Given the description of an element on the screen output the (x, y) to click on. 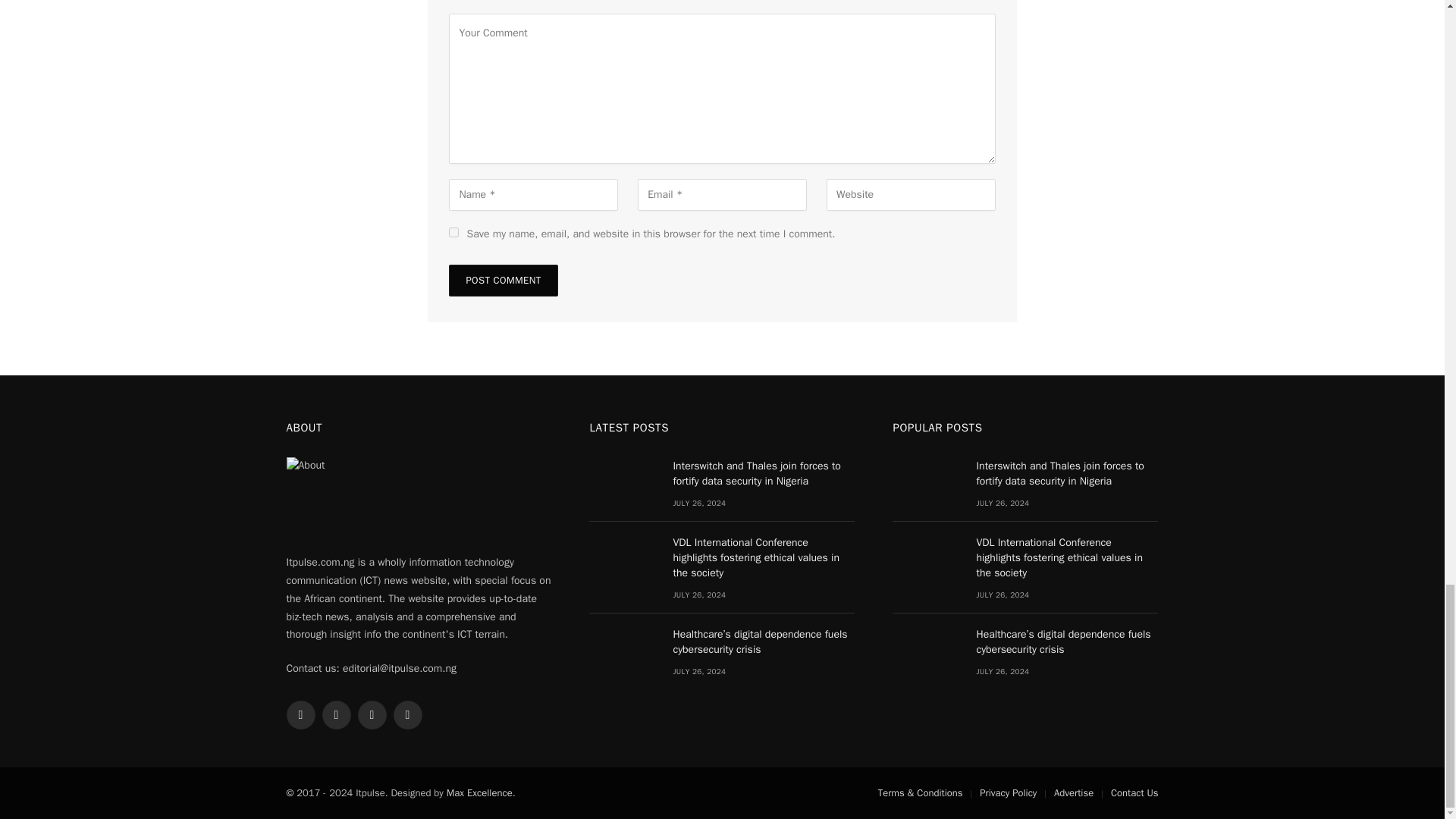
yes (453, 232)
Post Comment (502, 280)
